Given the description of an element on the screen output the (x, y) to click on. 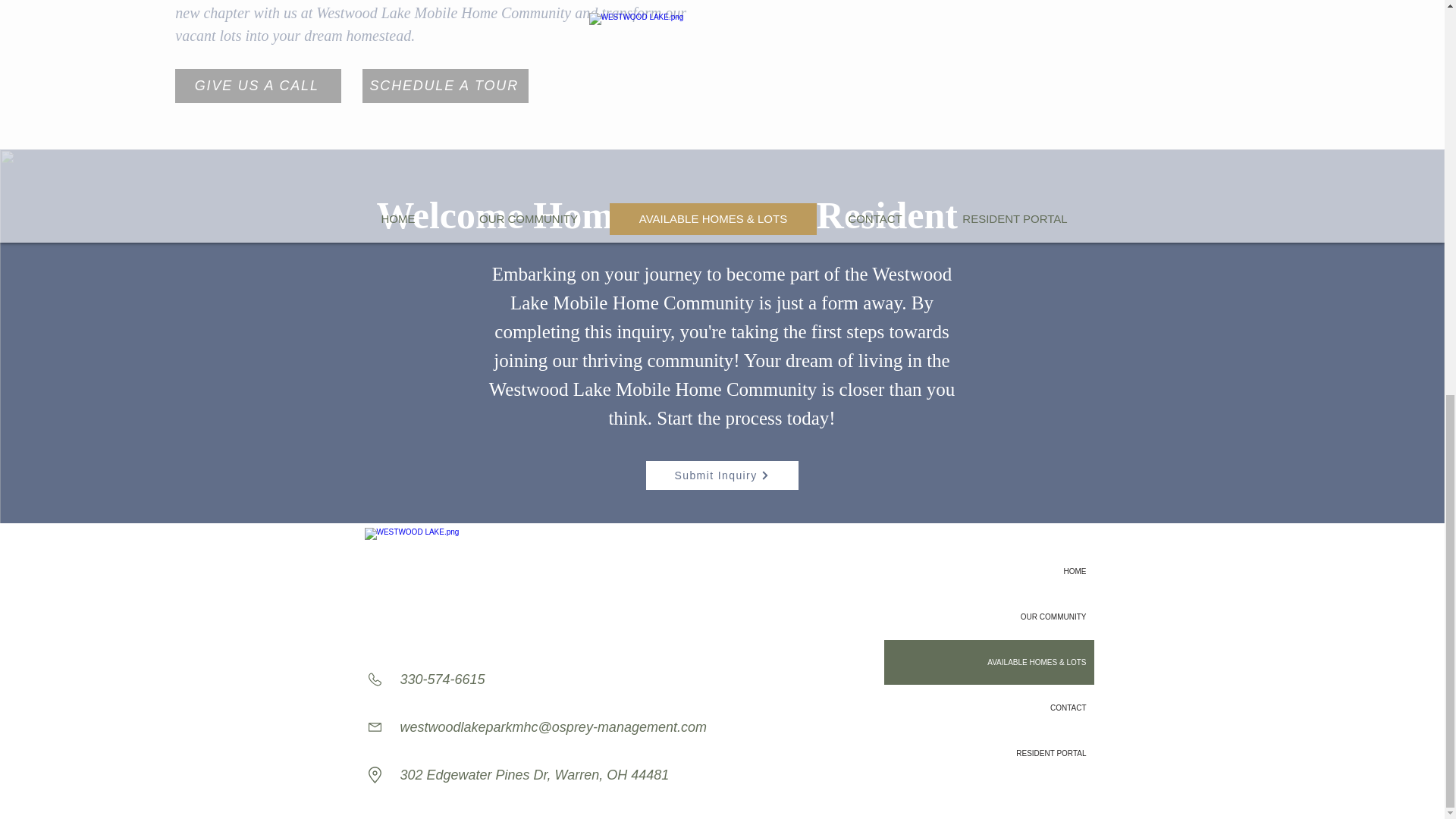
RESIDENT PORTAL (988, 753)
Submit Inquiry (721, 475)
HOME (988, 570)
330-574-6615 (442, 679)
SCHEDULE A TOUR (445, 85)
GIVE US A CALL (257, 85)
CONTACT (988, 707)
OUR COMMUNITY (988, 616)
